Given the description of an element on the screen output the (x, y) to click on. 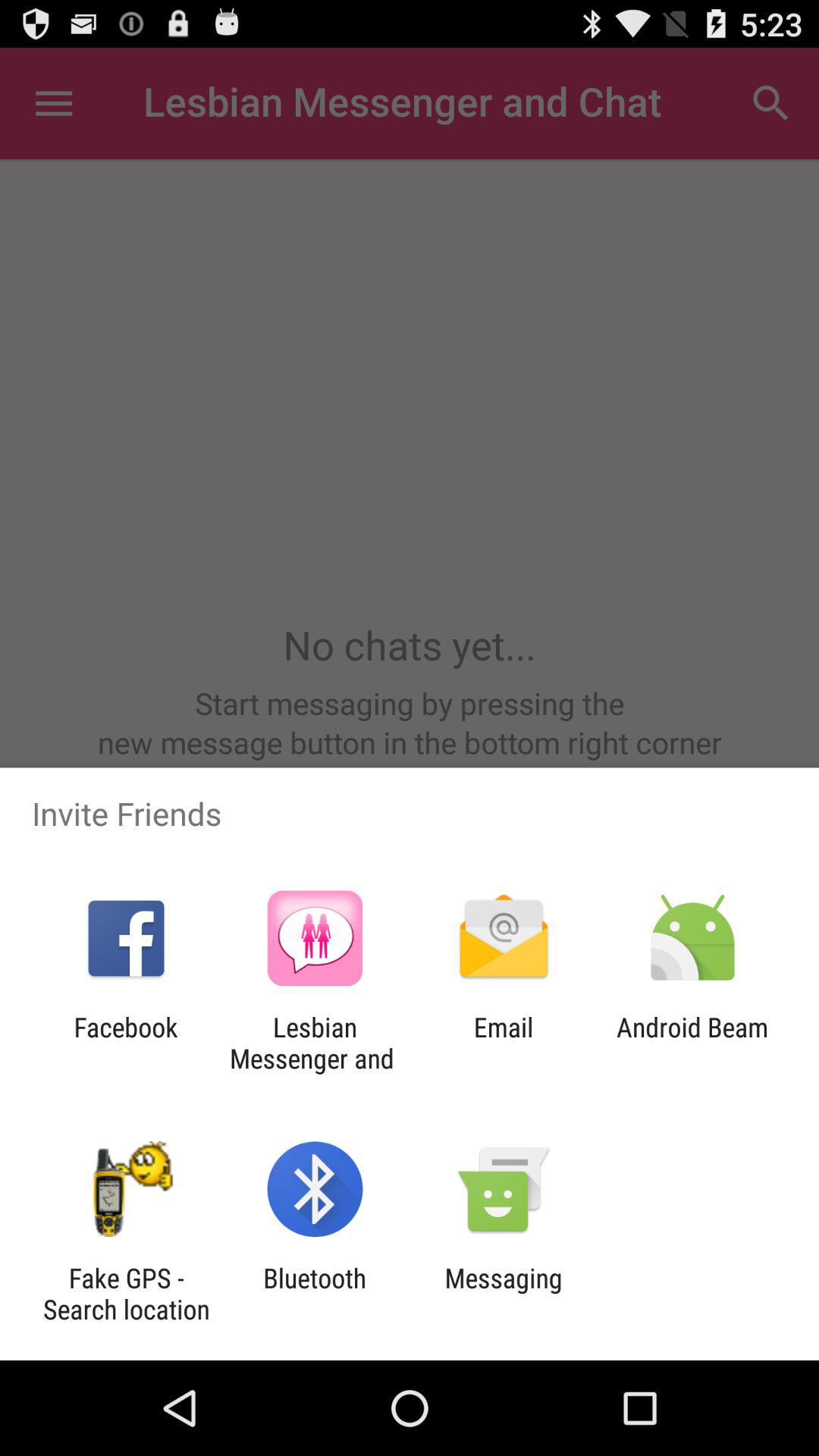
press the android beam icon (692, 1042)
